Given the description of an element on the screen output the (x, y) to click on. 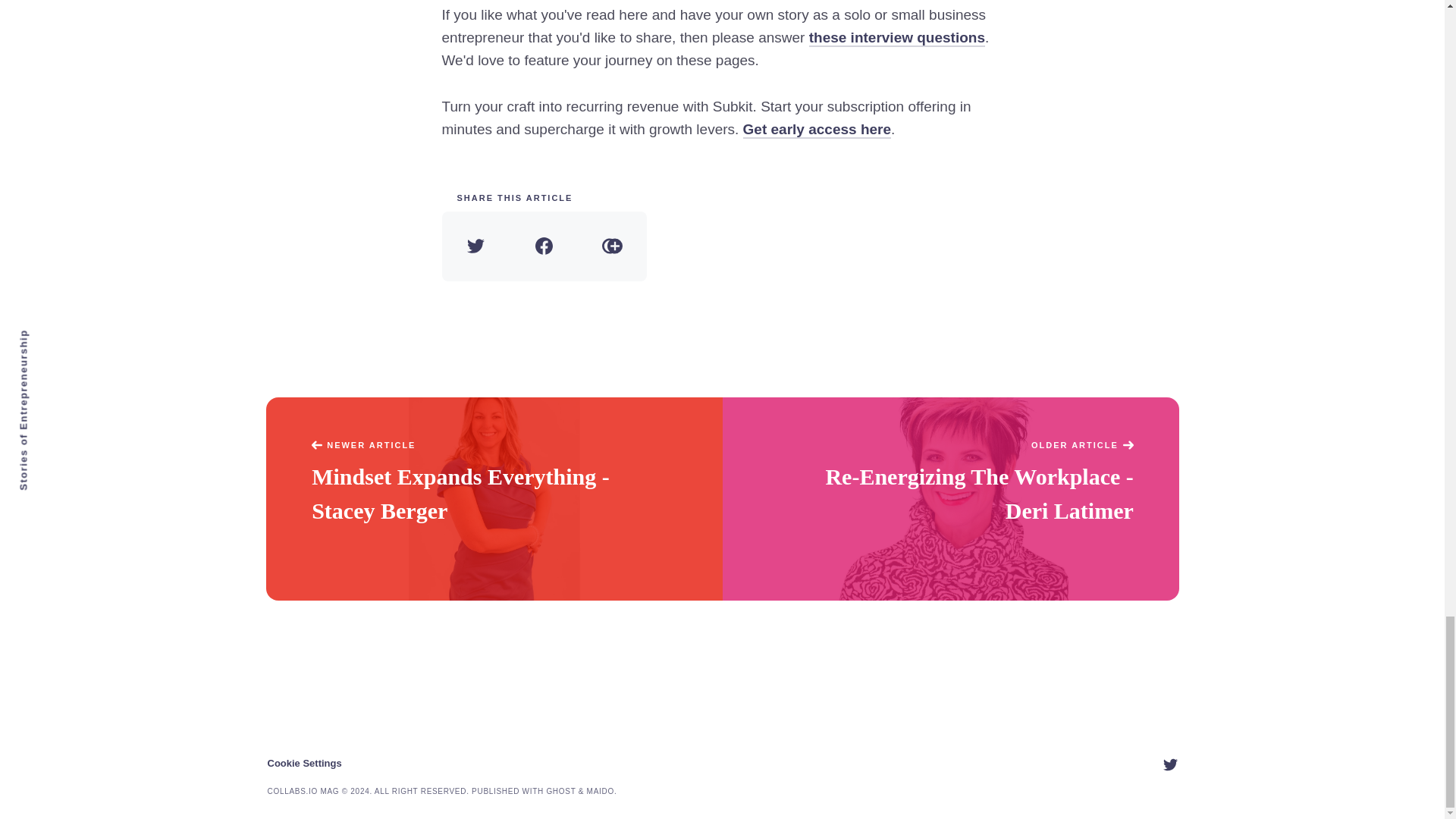
Get early access here (816, 129)
GHOST (560, 791)
COLLABS.IO MAG (302, 791)
MAIDO (600, 791)
Cookie Settings (303, 763)
these interview questions (897, 37)
